Given the description of an element on the screen output the (x, y) to click on. 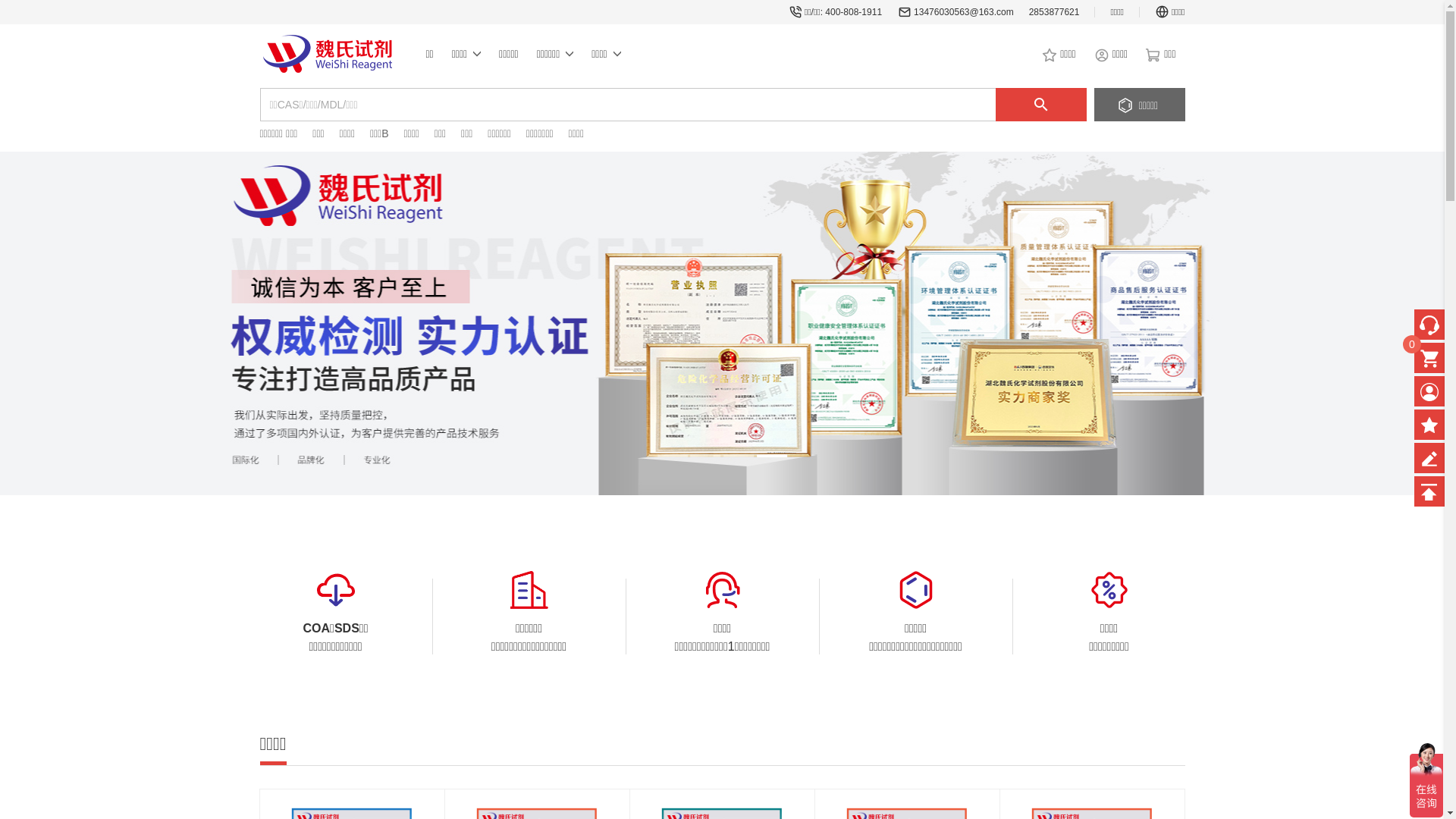
13476030563@163.com Element type: text (963, 12)
0 Element type: text (1429, 357)
